Given the description of an element on the screen output the (x, y) to click on. 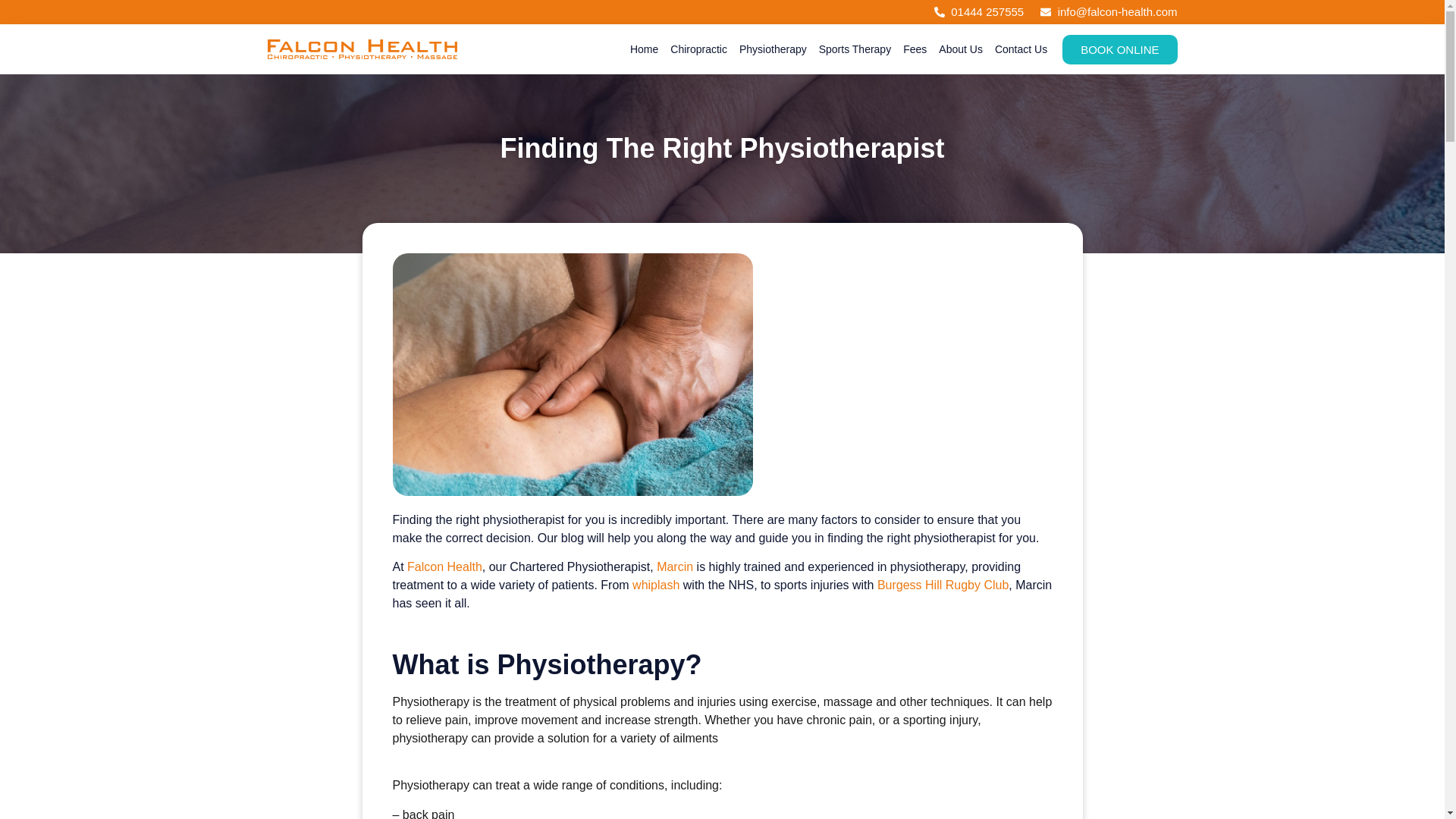
Contact Us (1020, 48)
Burgess Hill Rugby Club (943, 584)
Marcin (674, 566)
Physiotherapy (772, 48)
Chiropractic (697, 48)
Falcon Health (444, 566)
whiplash (655, 584)
Sports Therapy (854, 48)
About Us (960, 48)
BOOK ONLINE (1119, 49)
